Given the description of an element on the screen output the (x, y) to click on. 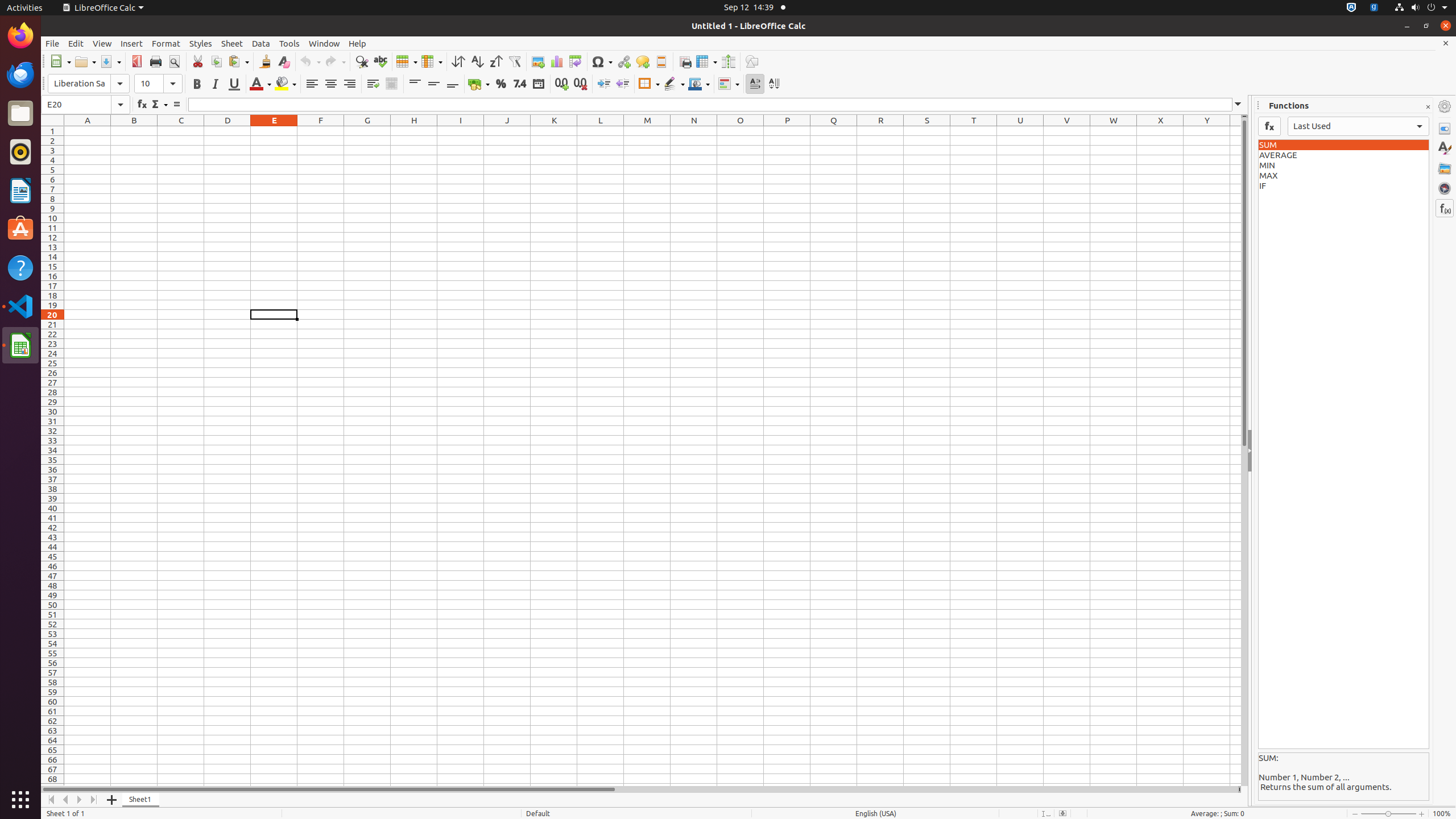
Select Function Element type: push-button (159, 104)
Delete Decimal Place Element type: push-button (580, 83)
Name Box Element type: combo-box (85, 104)
H1 Element type: table-cell (413, 130)
Move Left Element type: push-button (65, 799)
